Given the description of an element on the screen output the (x, y) to click on. 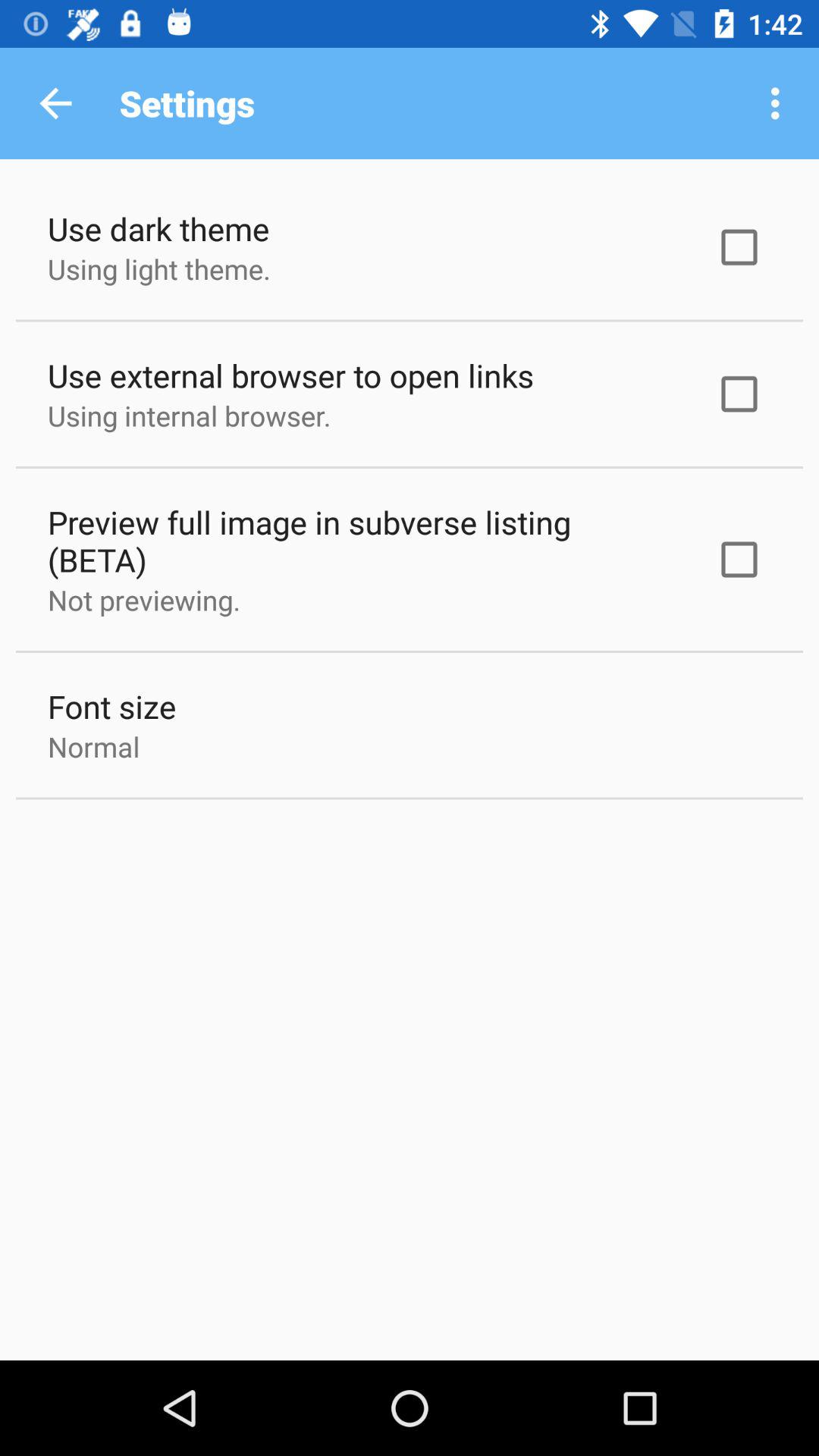
press the icon above the use dark theme icon (55, 103)
